Given the description of an element on the screen output the (x, y) to click on. 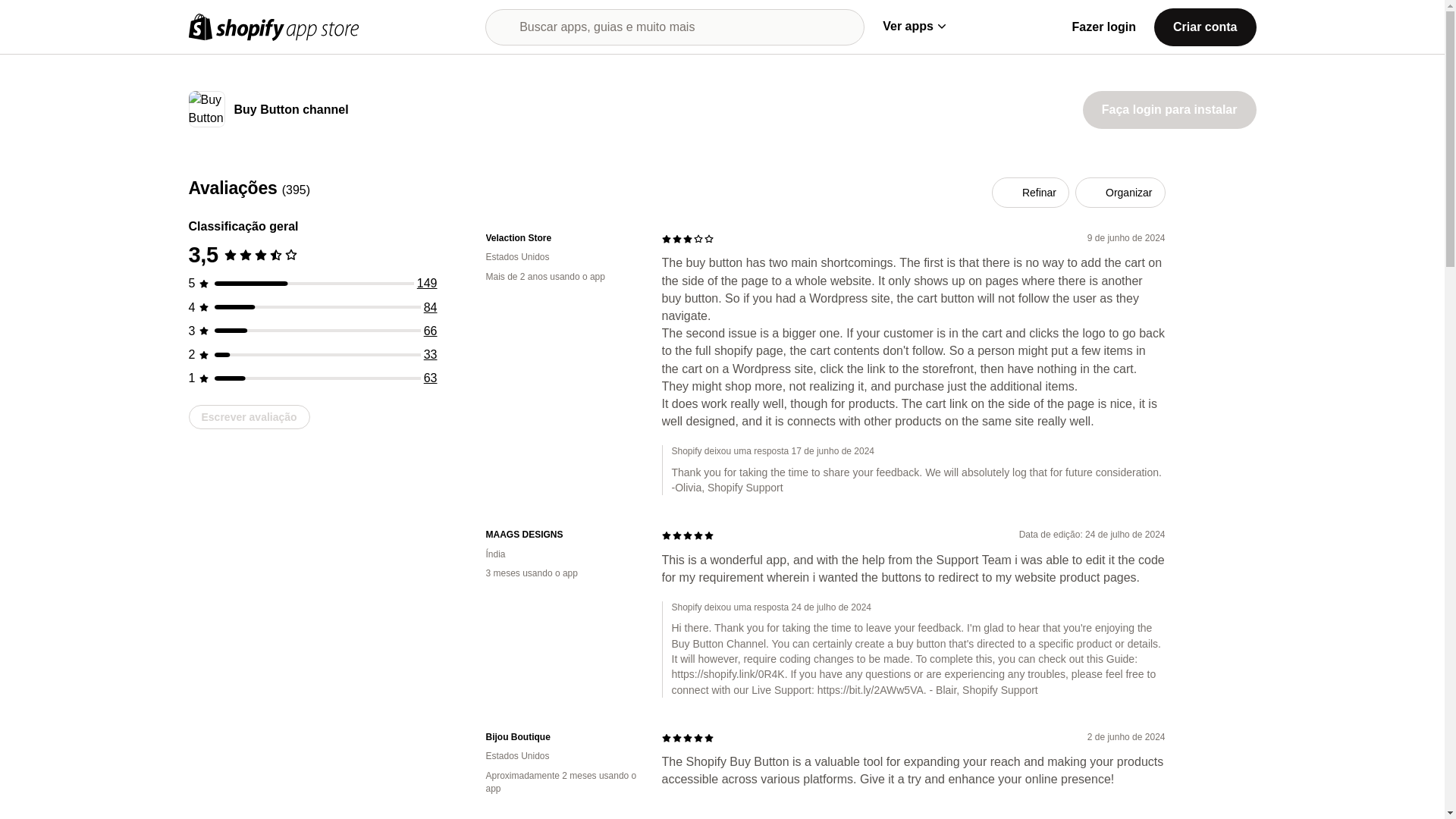
Refinar (1029, 192)
Fazer login (1103, 27)
Criar conta (1204, 26)
33 (430, 354)
MAAGS DESIGNS (560, 534)
66 (430, 330)
Bijou Boutique (560, 737)
Velaction Store (560, 237)
149 (427, 282)
84 (430, 307)
